Given the description of an element on the screen output the (x, y) to click on. 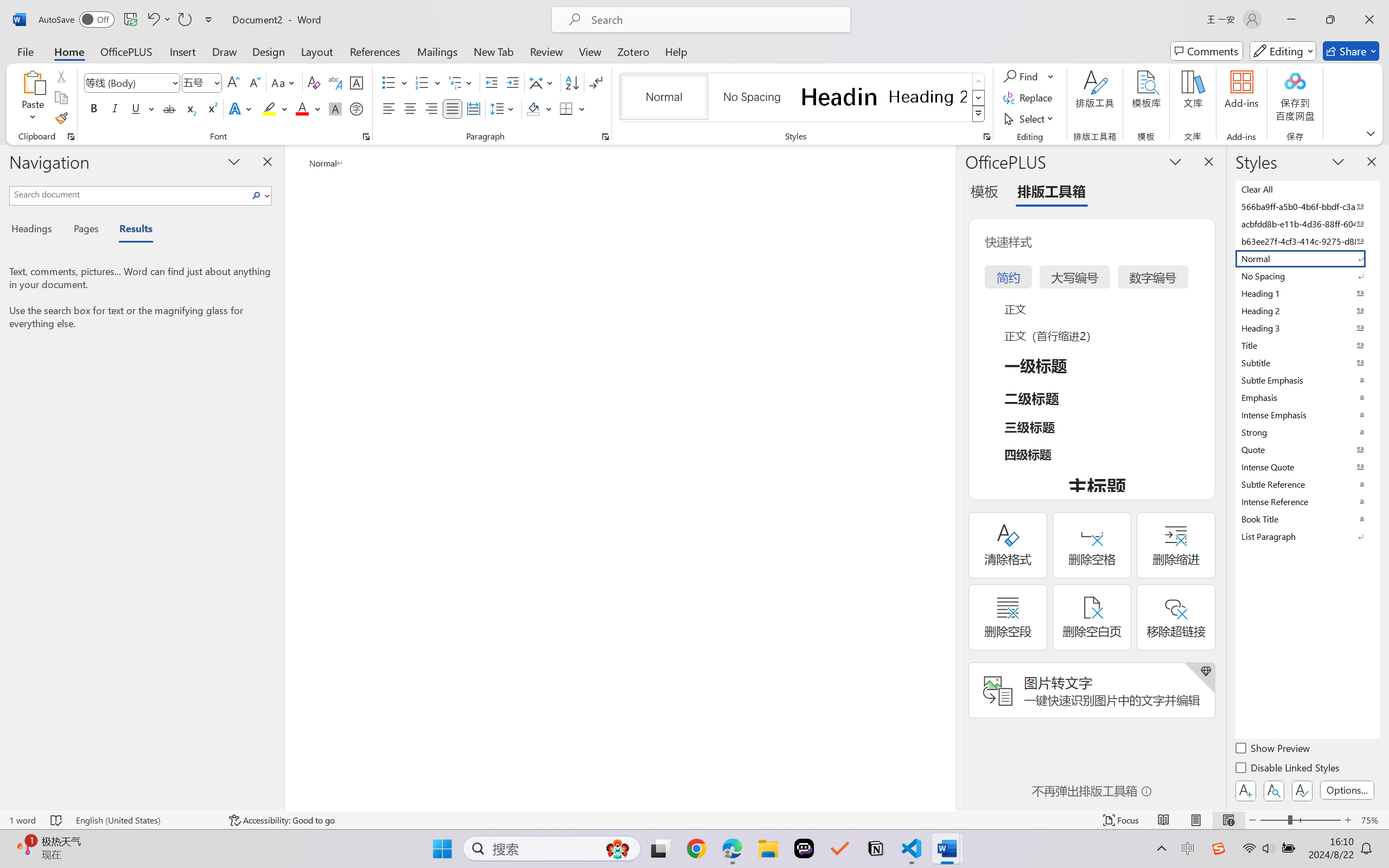
AutomationID: QuickStylesGallery (802, 97)
Text Highlight Color (274, 108)
No Spacing (1306, 275)
Search document (128, 193)
Class: MsoCommandBar (694, 819)
Mode (1283, 50)
Cut (60, 75)
Search (259, 195)
Subtitle (1306, 362)
Character Shading (334, 108)
Paragraph... (605, 136)
